Given the description of an element on the screen output the (x, y) to click on. 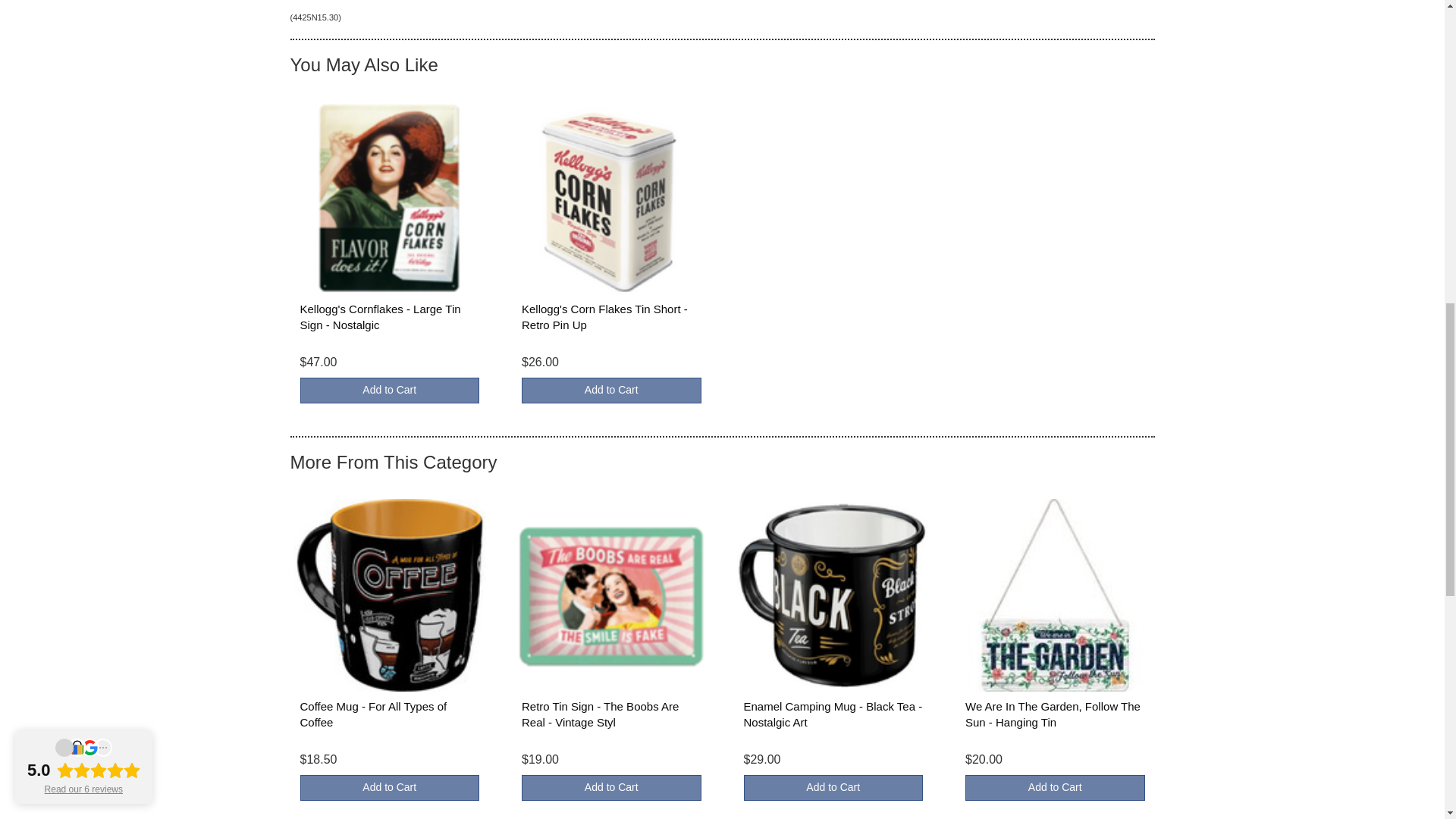
Enamel Camping Mug - Black Tea - Nostalgic Art (831, 714)
Kellogg's Cornflakes - Large Tin Sign - Nostalgic Art (380, 316)
Add to Cart (389, 787)
Add to Cart (611, 390)
Add to Cart (832, 787)
Add to Cart (611, 787)
Kellogg's Corn Flakes Tin Short - Retro Pin Up (604, 316)
Add to Cart (389, 390)
Retro Tin Sign - The Boobs Are Real - Vintage Style (599, 714)
Coffee Mug - For All Types of Coffee (372, 714)
Add to Cart (1054, 787)
